Given the description of an element on the screen output the (x, y) to click on. 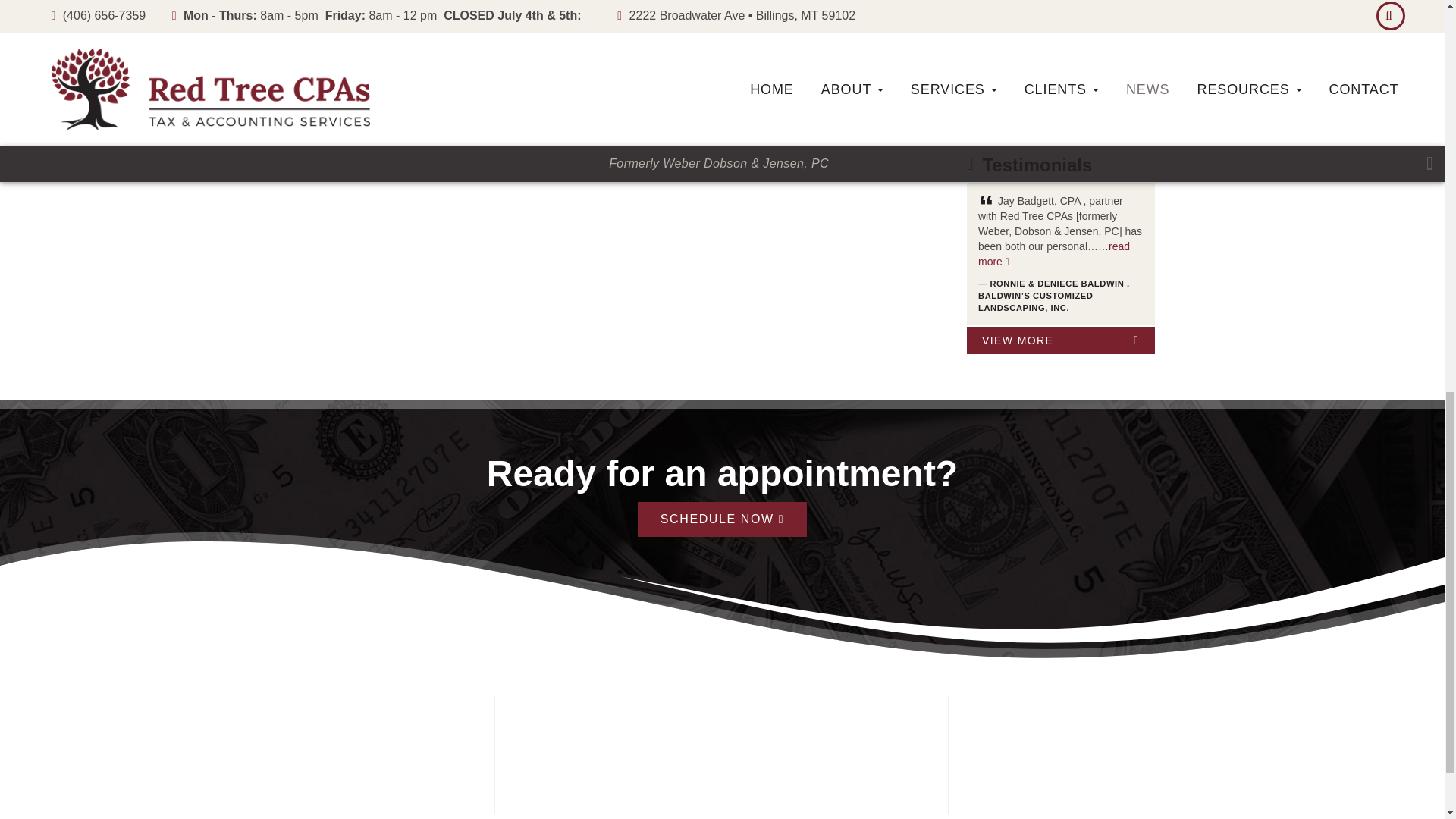
VIEW ARCHIVES (1060, 102)
VIEW MORE (1060, 339)
read more (1101, 67)
Testimonials (1036, 164)
read more (1053, 253)
SCHEDULE NOW (721, 519)
